Given the description of an element on the screen output the (x, y) to click on. 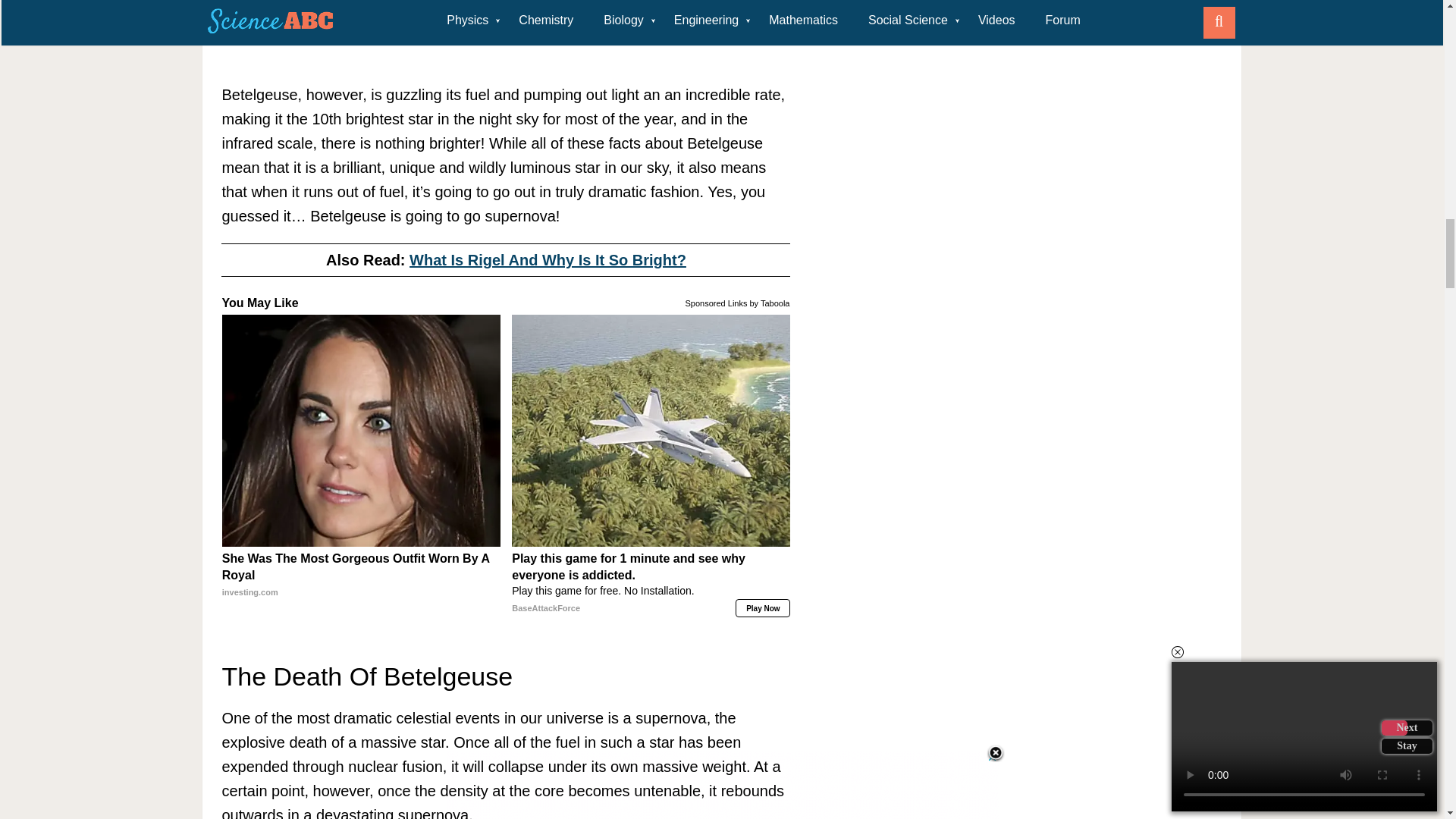
She Was The Most Gorgeous Outfit Worn By A Royal (361, 575)
"Description: Play this game for free. No Installation." (651, 590)
What Is Rigel And Why Is It So Bright? (547, 259)
She Was The Most Gorgeous Outfit Worn By A Royal (361, 430)
